Given the description of an element on the screen output the (x, y) to click on. 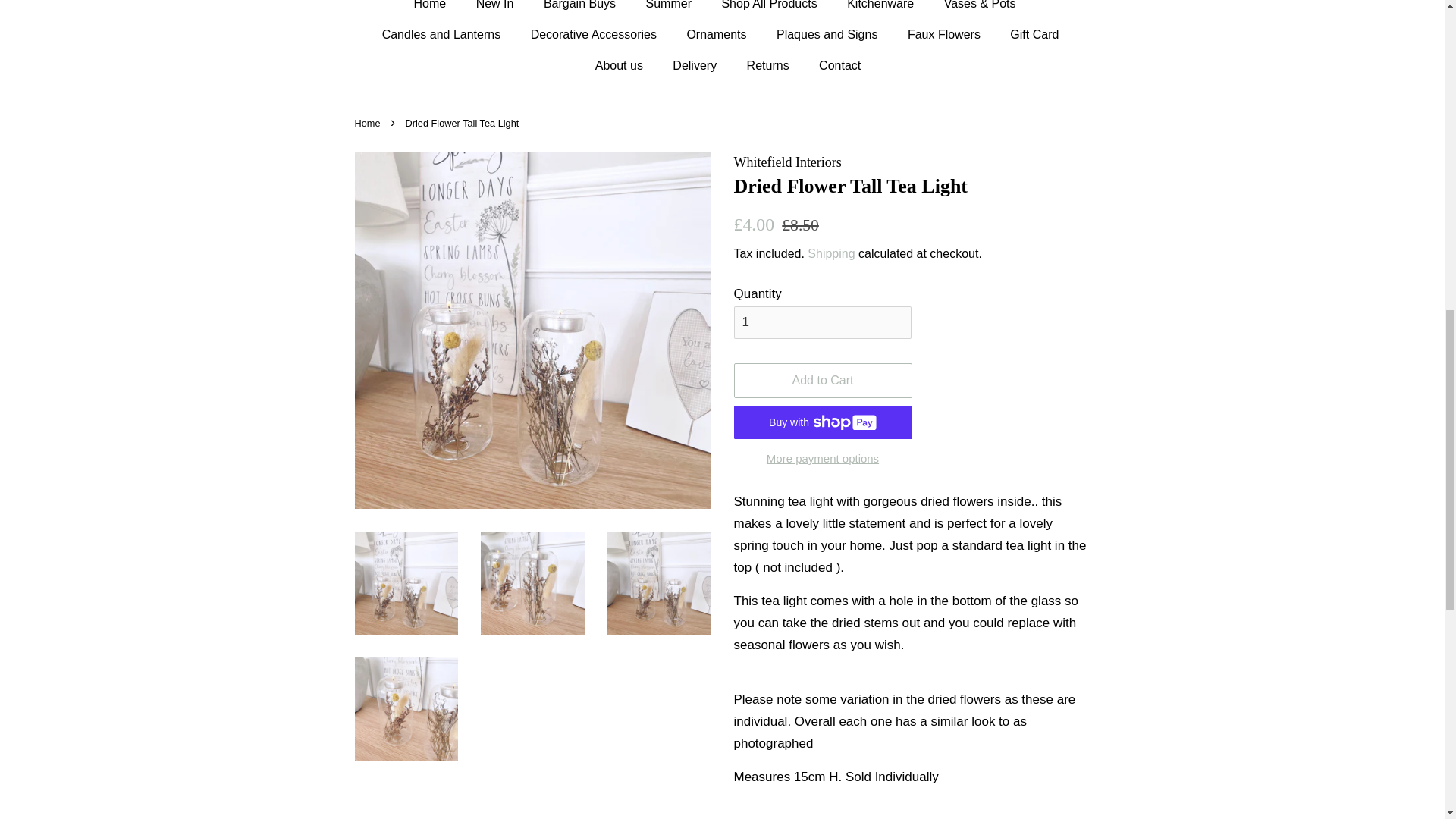
Kitchenware (881, 9)
Faux Flowers (945, 33)
New In (496, 9)
Gift Card (1036, 33)
Delivery (696, 65)
About us (620, 65)
Back to the frontpage (369, 122)
1 (822, 322)
Decorative Accessories (595, 33)
Plaques and Signs (828, 33)
Ornaments (718, 33)
Home (437, 9)
Summer (669, 9)
Shop All Products (770, 9)
Bargain Buys (581, 9)
